Given the description of an element on the screen output the (x, y) to click on. 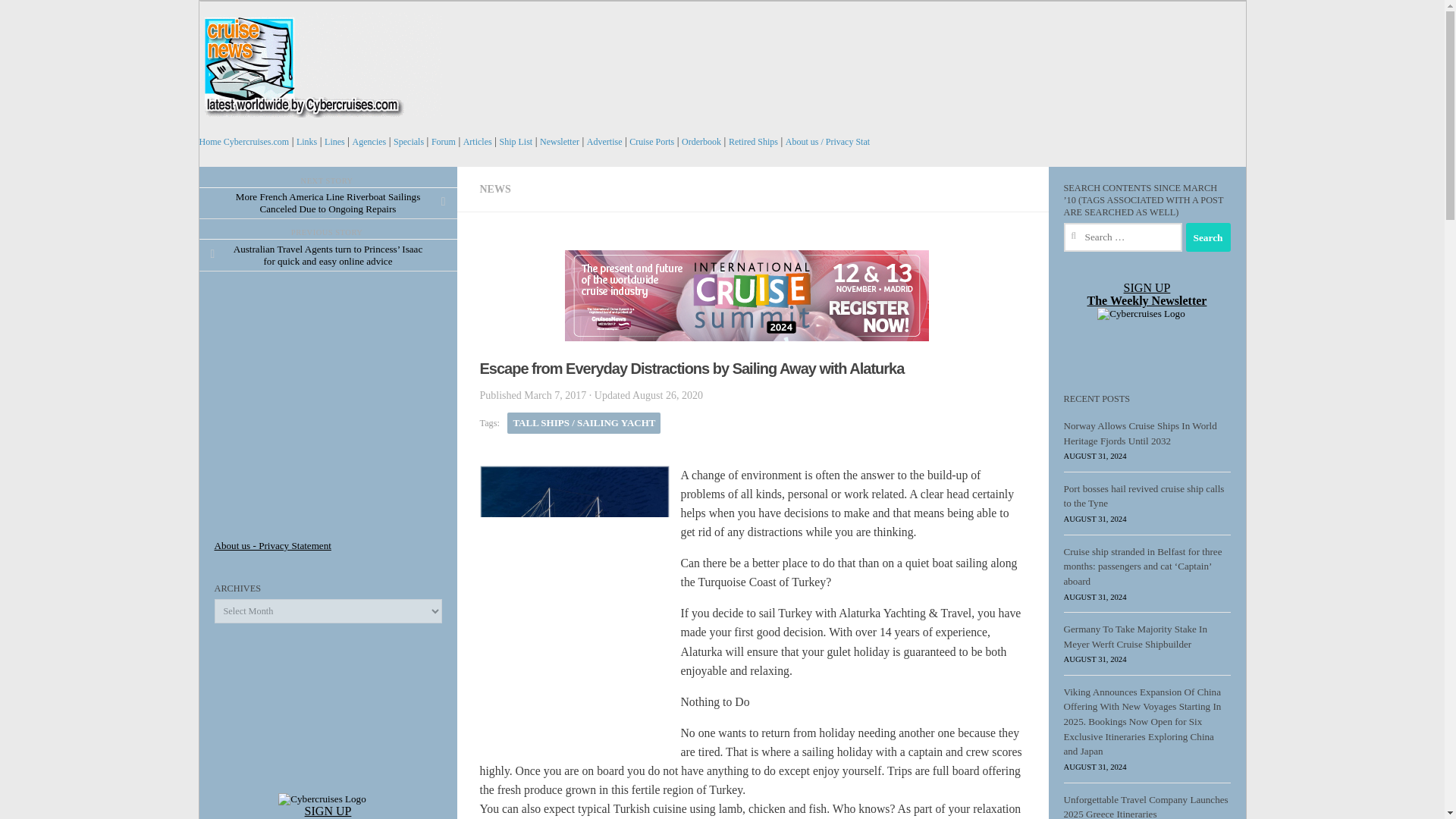
Advertise (604, 141)
Articles (477, 141)
Cruise Ports (651, 141)
Home Cybercruises.com (243, 141)
Forum (442, 141)
Newsletter (559, 141)
Lines (334, 141)
Links (307, 141)
Cruise Summit 2024 - Madrid (752, 295)
Retired Ships (753, 141)
